Given the description of an element on the screen output the (x, y) to click on. 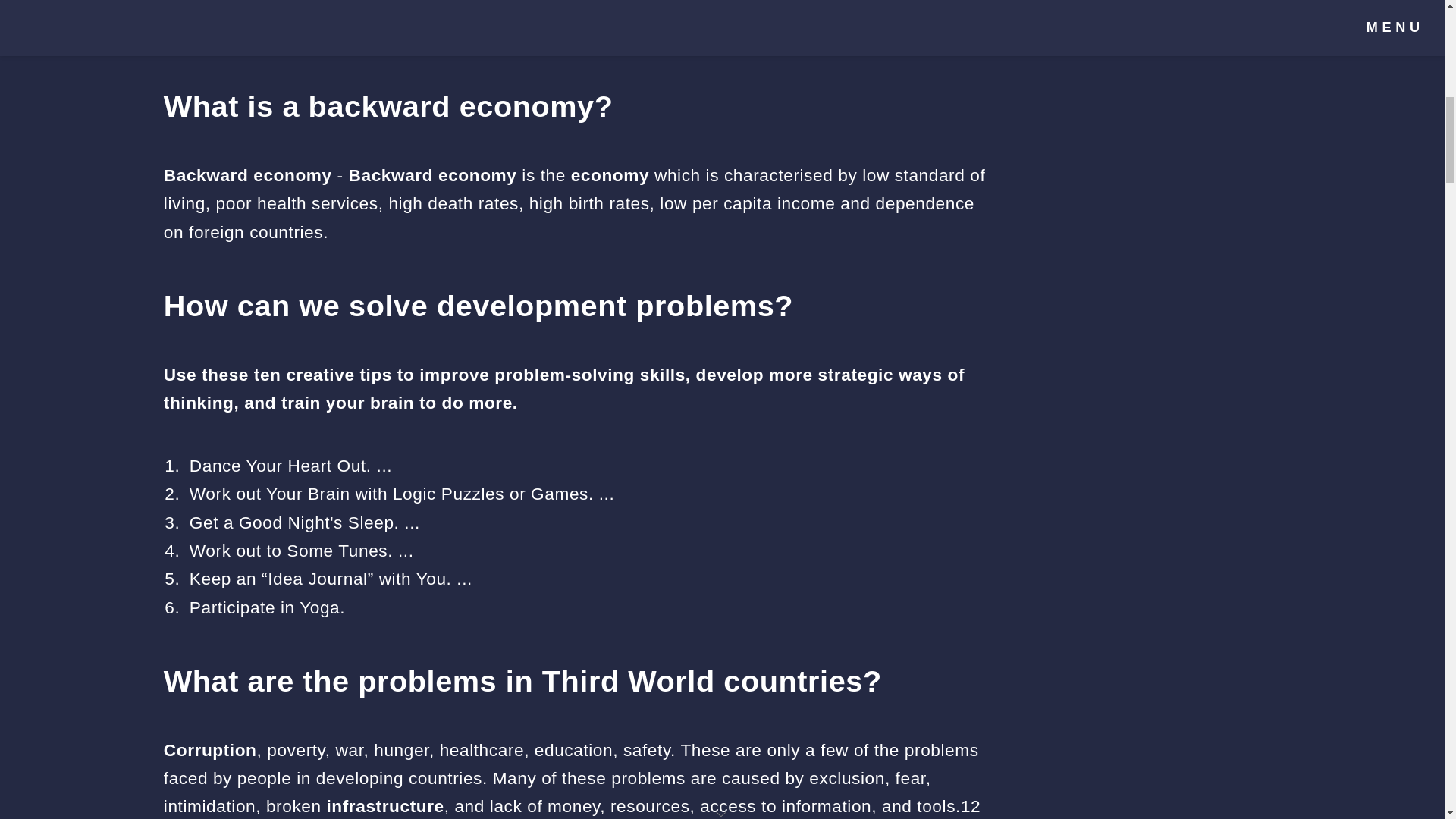
Which country food is best in the world? (350, 7)
Which Indian food is famous in the world? (357, 32)
